Given the description of an element on the screen output the (x, y) to click on. 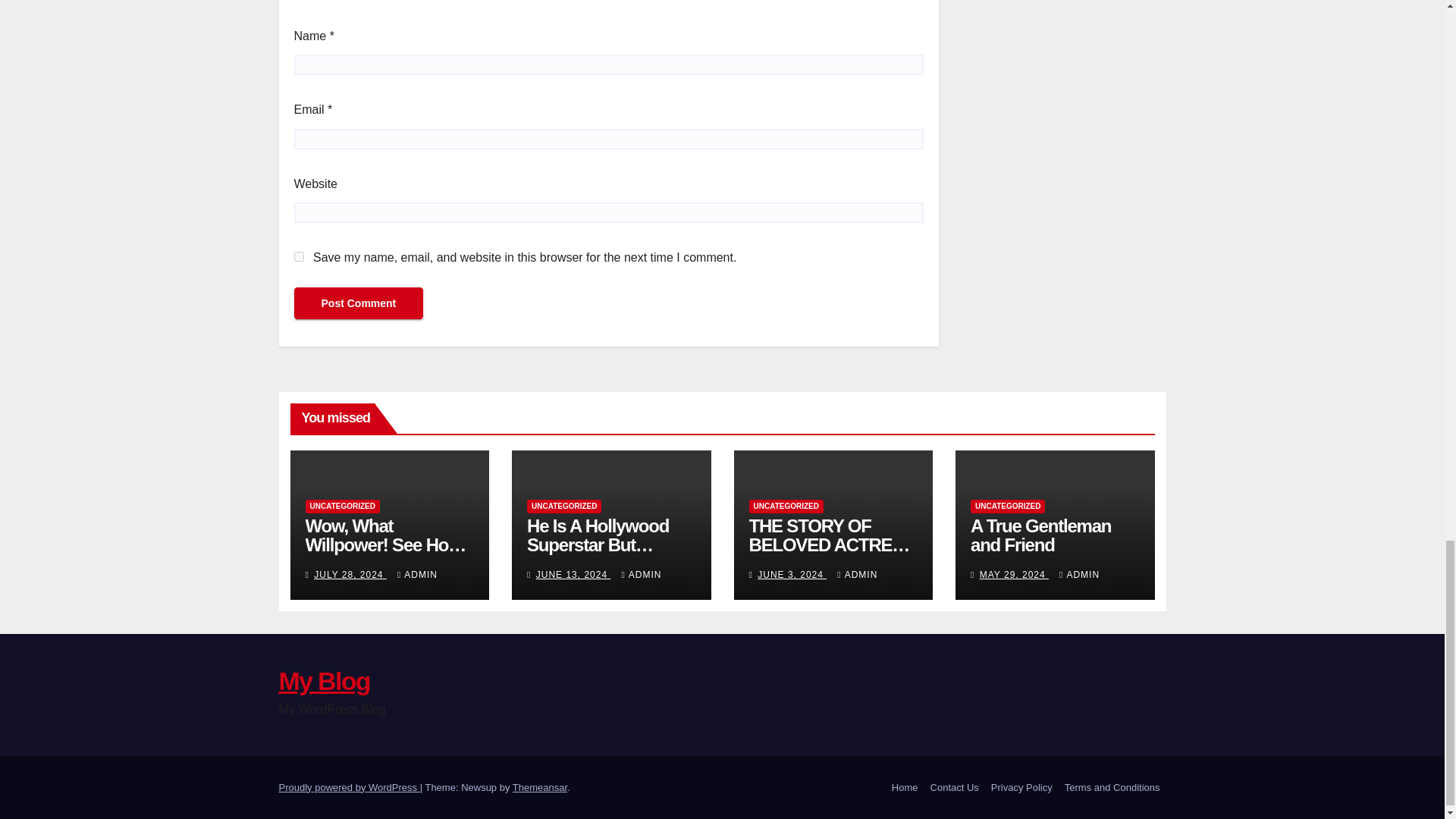
Home (904, 787)
Post Comment (358, 303)
Post Comment (358, 303)
yes (299, 256)
Permalink to: THE STORY OF BELOVED ACTRESS JAMIE LEE CURTIS (831, 544)
Permalink to: A True Gentleman and Friend (1040, 535)
